Given the description of an element on the screen output the (x, y) to click on. 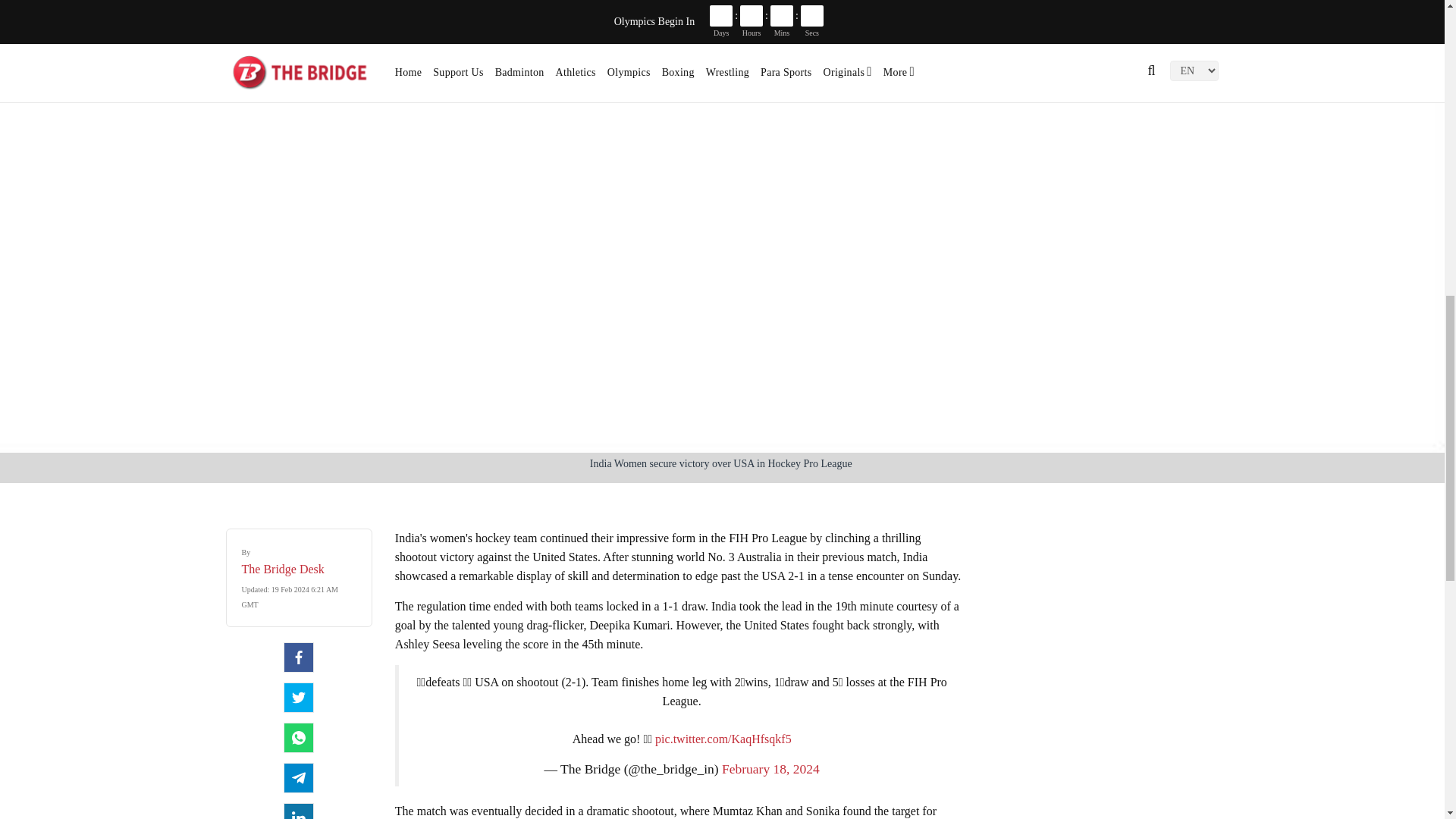
LinkedIn (298, 811)
